Given the description of an element on the screen output the (x, y) to click on. 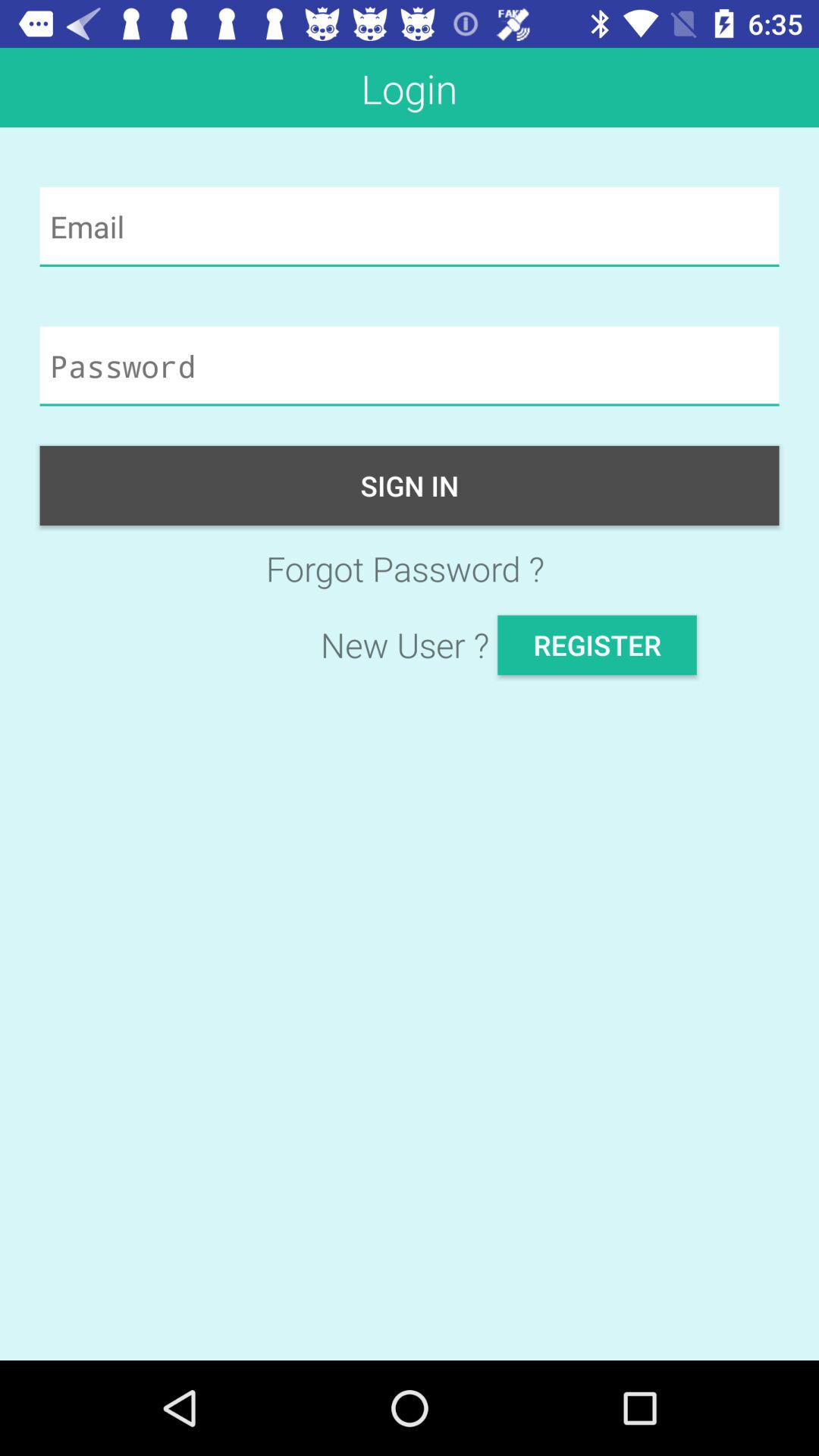
select the icon below the forgot password ?  app (596, 645)
